Given the description of an element on the screen output the (x, y) to click on. 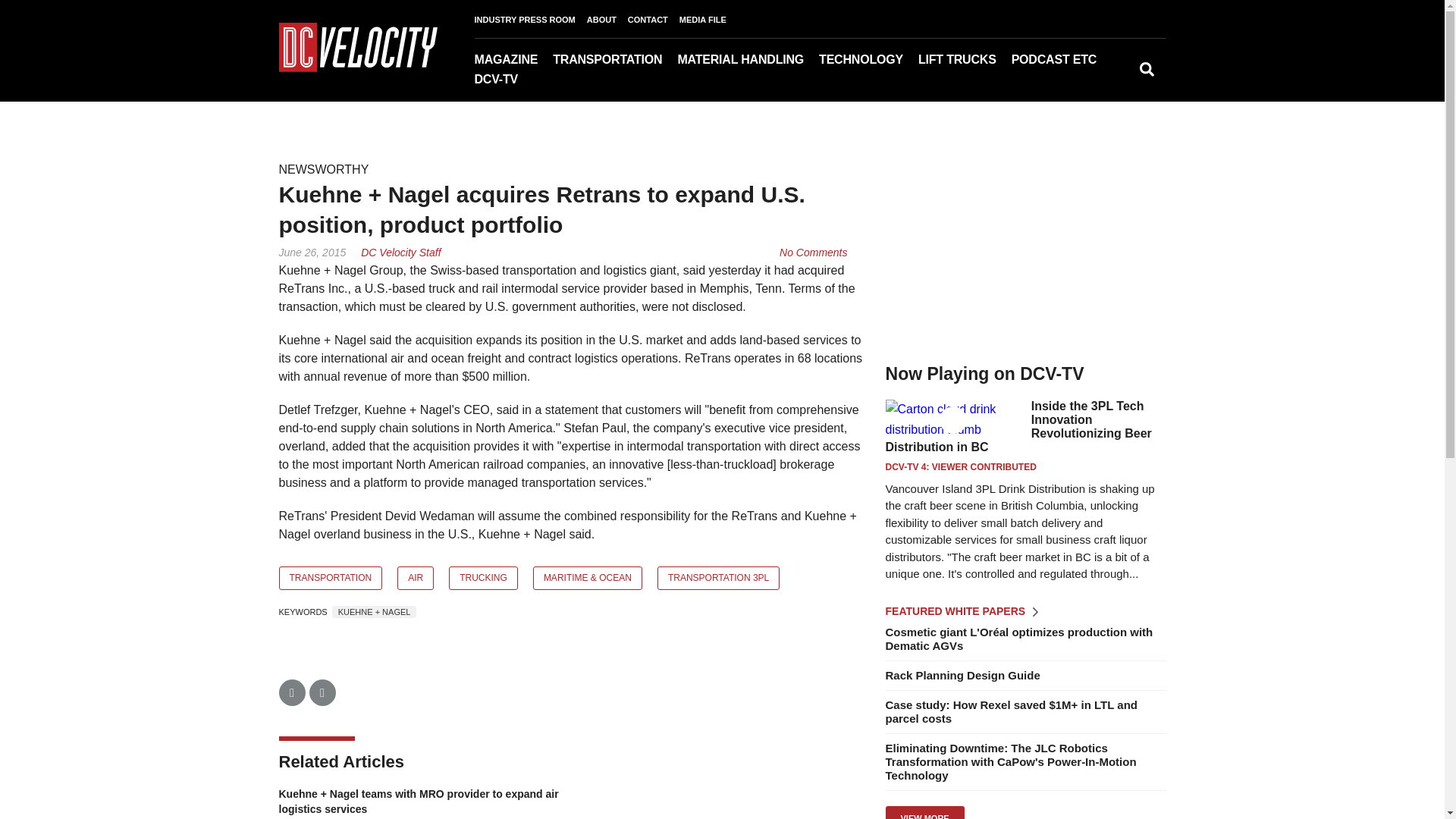
Podcast (1087, 81)
Events (1103, 81)
Digital Edition (562, 81)
White Papers (1108, 81)
Archives (555, 81)
INDUSTRY PRESS ROOM (530, 19)
MEDIA FILE (708, 19)
Current Issue (550, 81)
TECHNOLOGY (868, 59)
Webcasts (1093, 81)
